Given the description of an element on the screen output the (x, y) to click on. 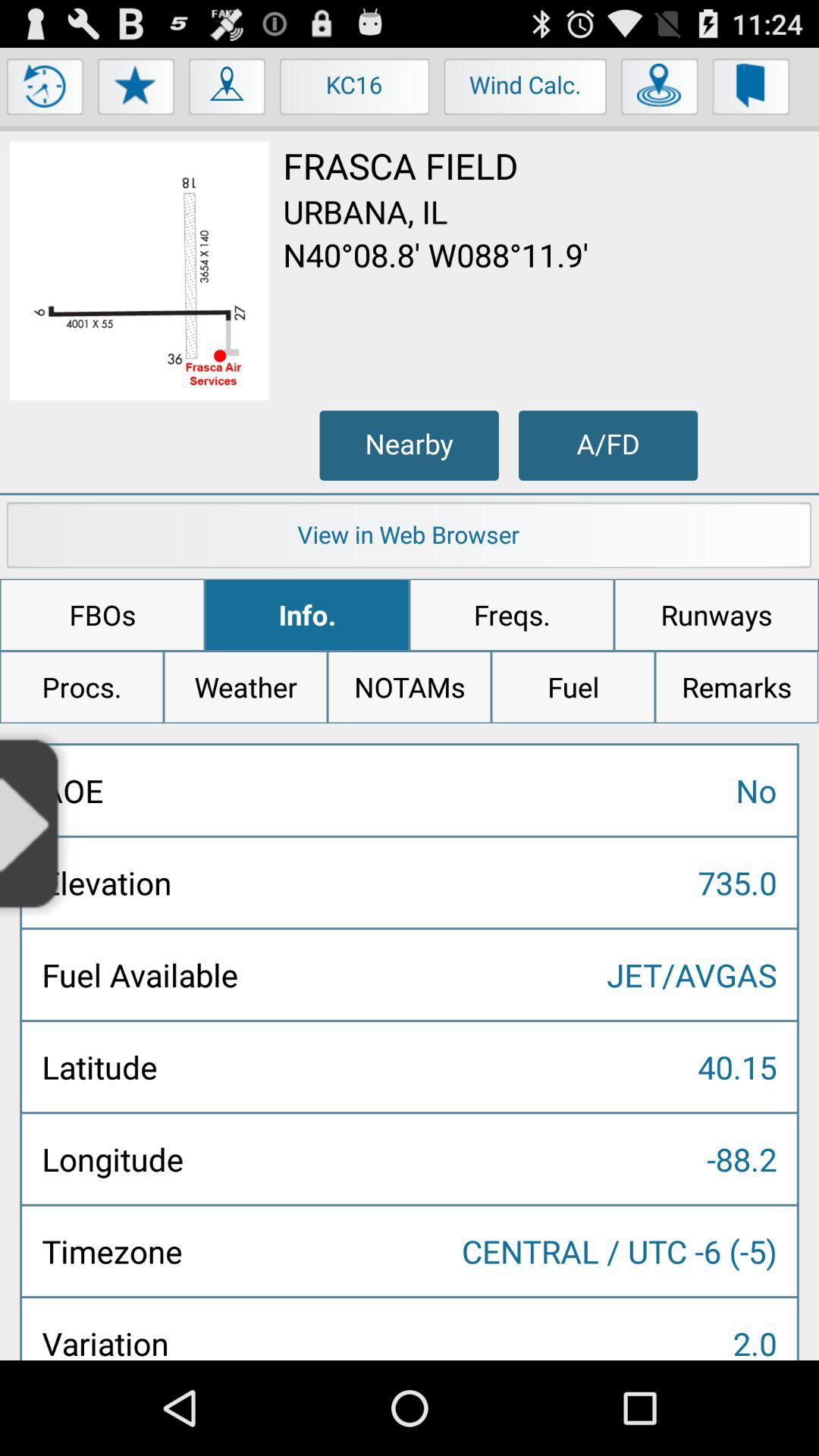
to view image (139, 270)
